Given the description of an element on the screen output the (x, y) to click on. 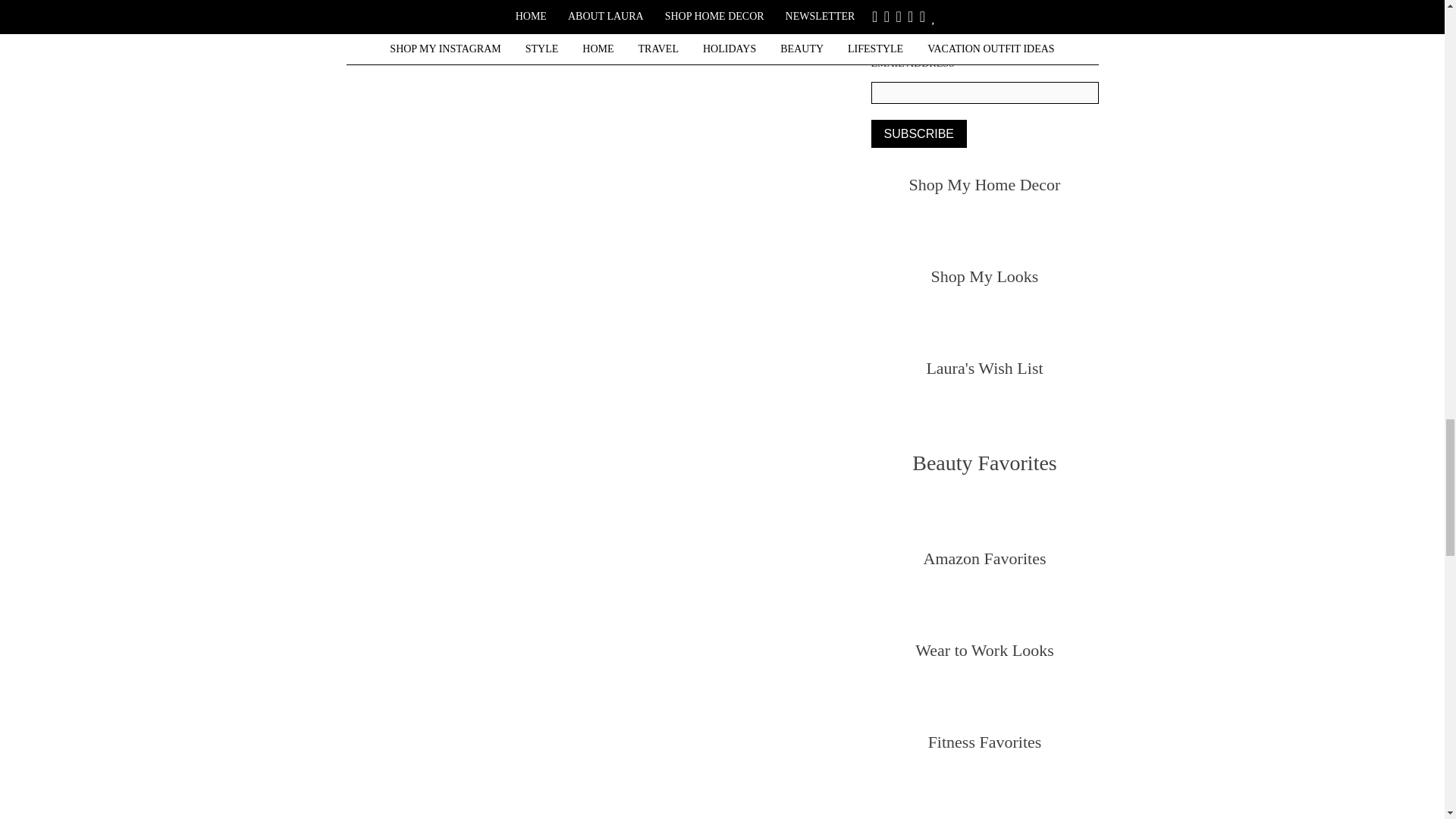
Subscribe (918, 133)
